Given the description of an element on the screen output the (x, y) to click on. 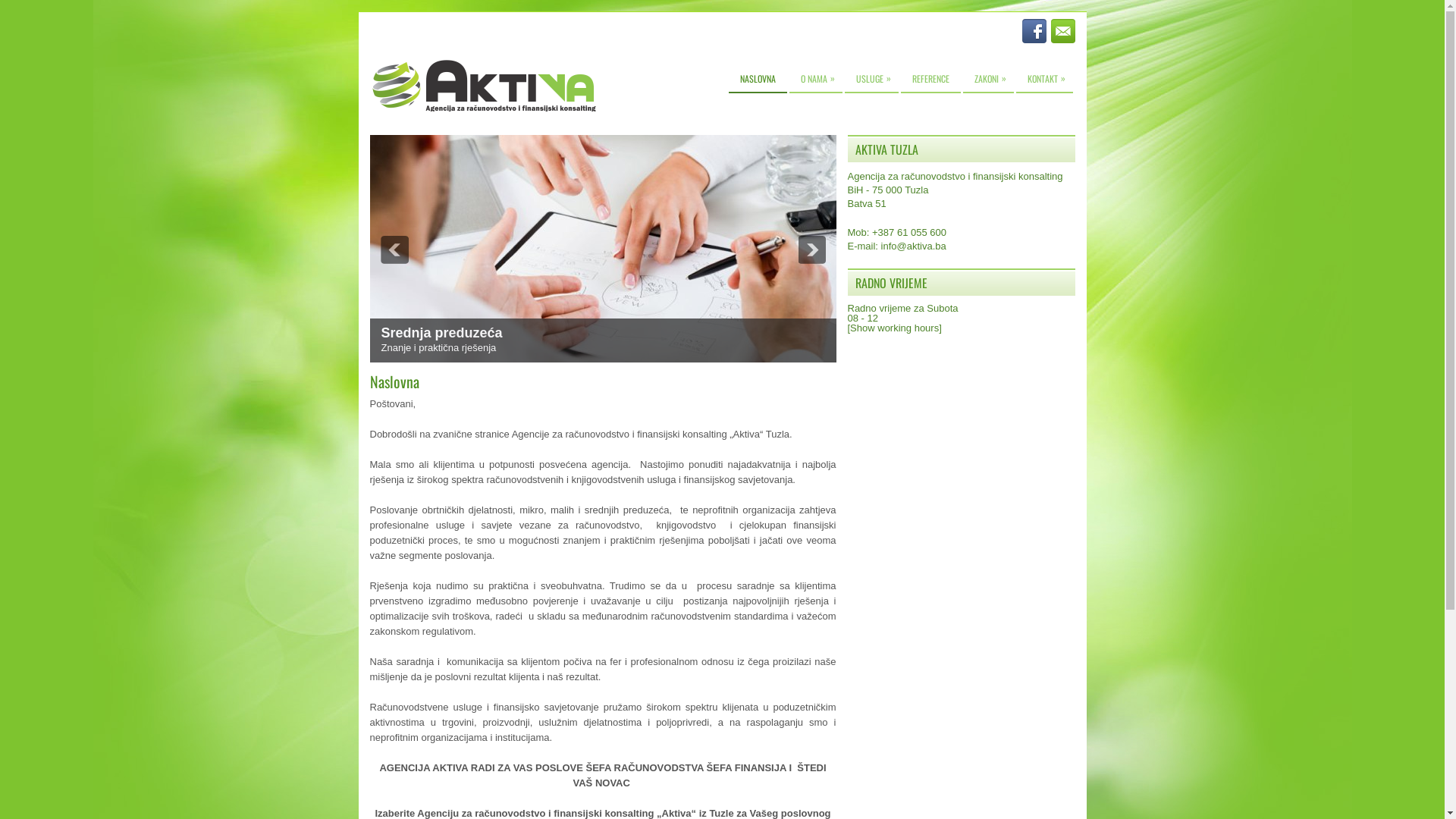
Aktiva Tuzla Element type: hover (483, 84)
NASLOVNA Element type: text (757, 79)
REFERENCE Element type: text (930, 79)
Facebook Element type: hover (1034, 30)
Email Element type: hover (1063, 30)
[Show working hours] Element type: text (894, 327)
